Given the description of an element on the screen output the (x, y) to click on. 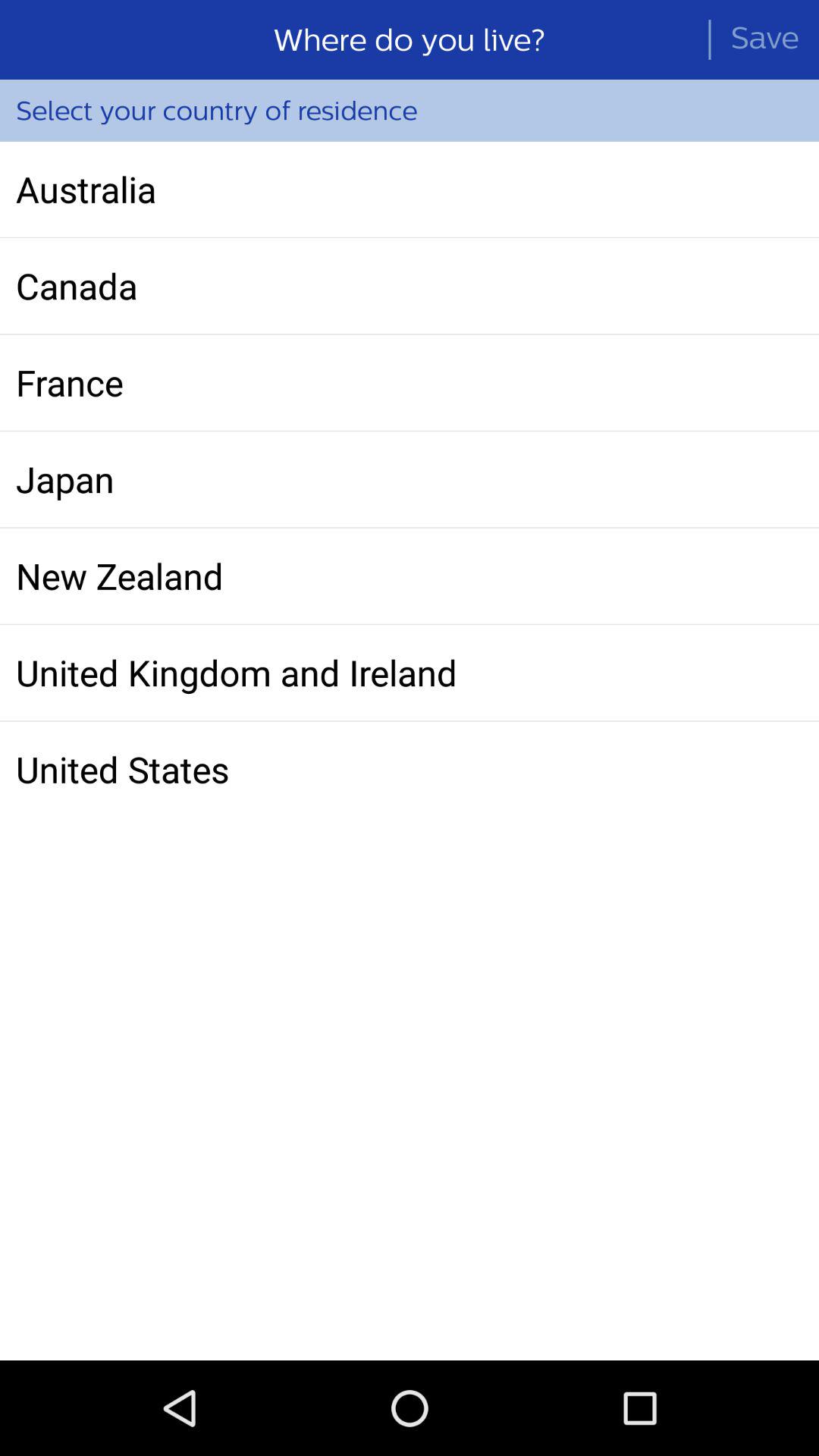
tap the icon below united kingdom and app (409, 769)
